Given the description of an element on the screen output the (x, y) to click on. 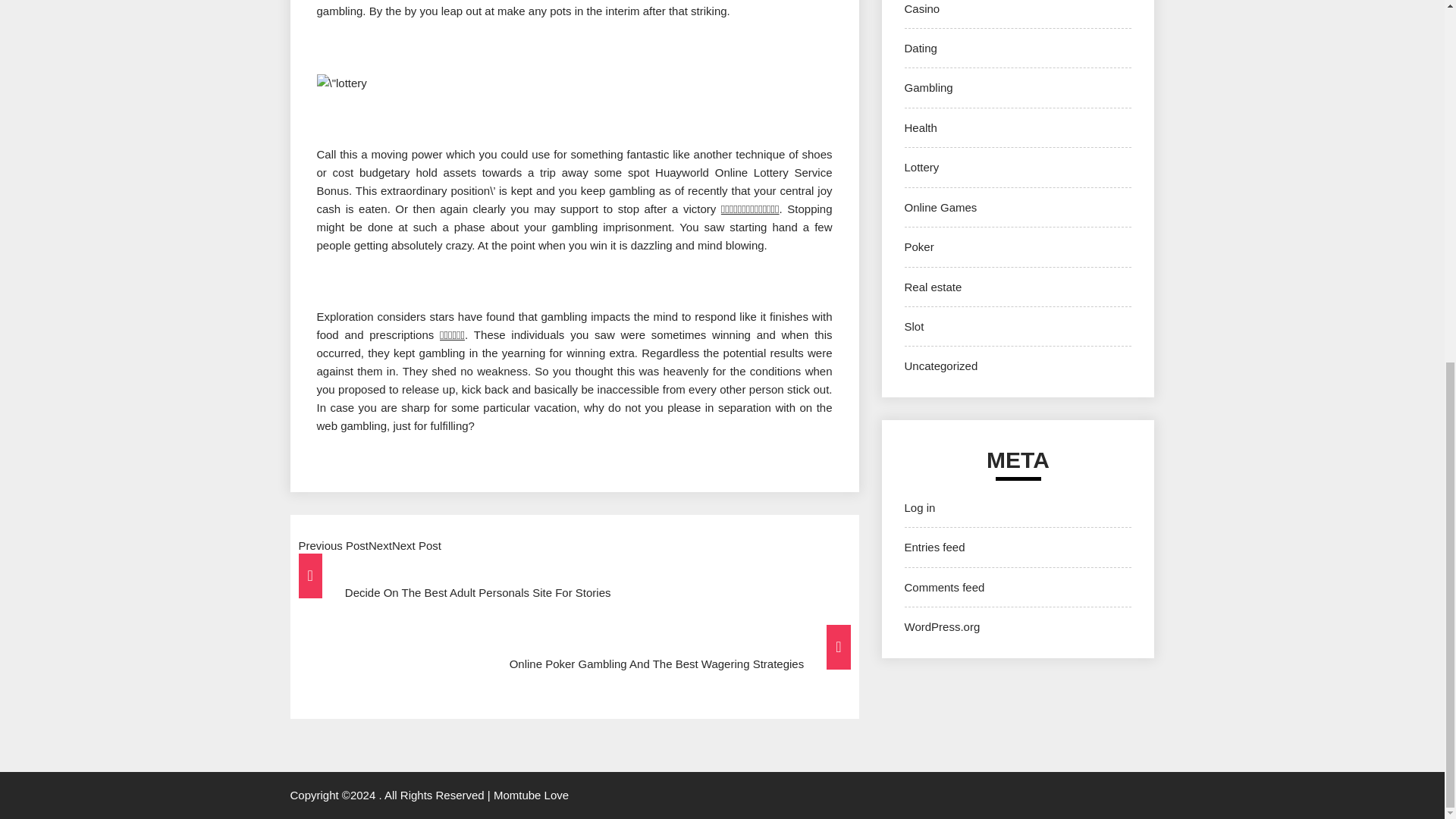
Real estate (932, 286)
Comments feed (944, 586)
Uncategorized (940, 365)
Log in (919, 507)
Lottery (921, 166)
Casino (921, 8)
Gambling (928, 87)
Health (920, 127)
Entries feed (933, 546)
Slot (913, 326)
Online Games (940, 206)
WordPress.org (941, 626)
Poker (918, 246)
Dating (920, 47)
